Given the description of an element on the screen output the (x, y) to click on. 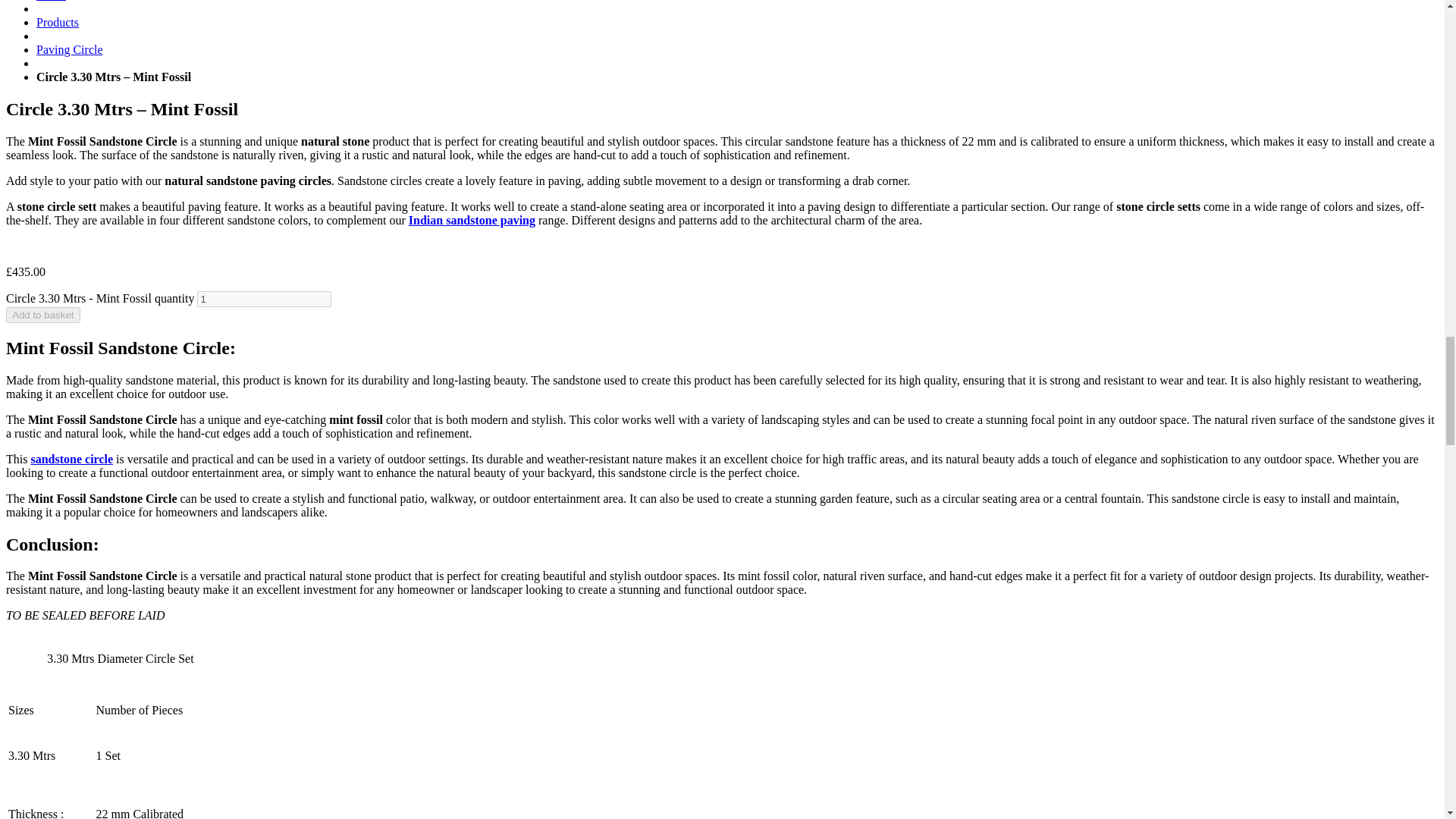
Home (50, 0)
Paving Circle (69, 49)
1 (263, 299)
Products (57, 21)
